Given the description of an element on the screen output the (x, y) to click on. 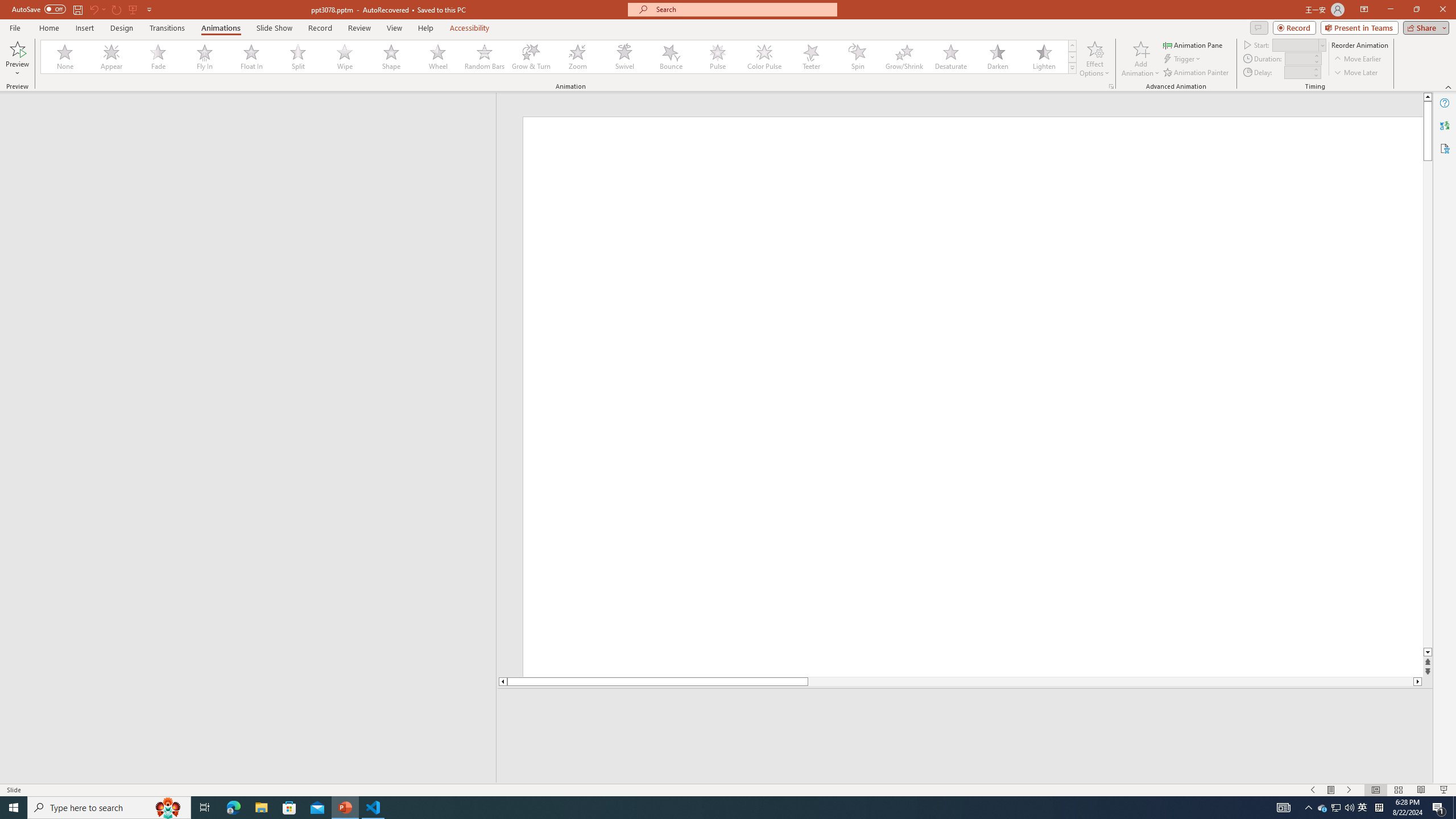
Grow/Shrink (903, 56)
Grow & Turn (531, 56)
Slide Show Next On (1349, 790)
Trigger (1182, 58)
Random Bars (484, 56)
